Given the description of an element on the screen output the (x, y) to click on. 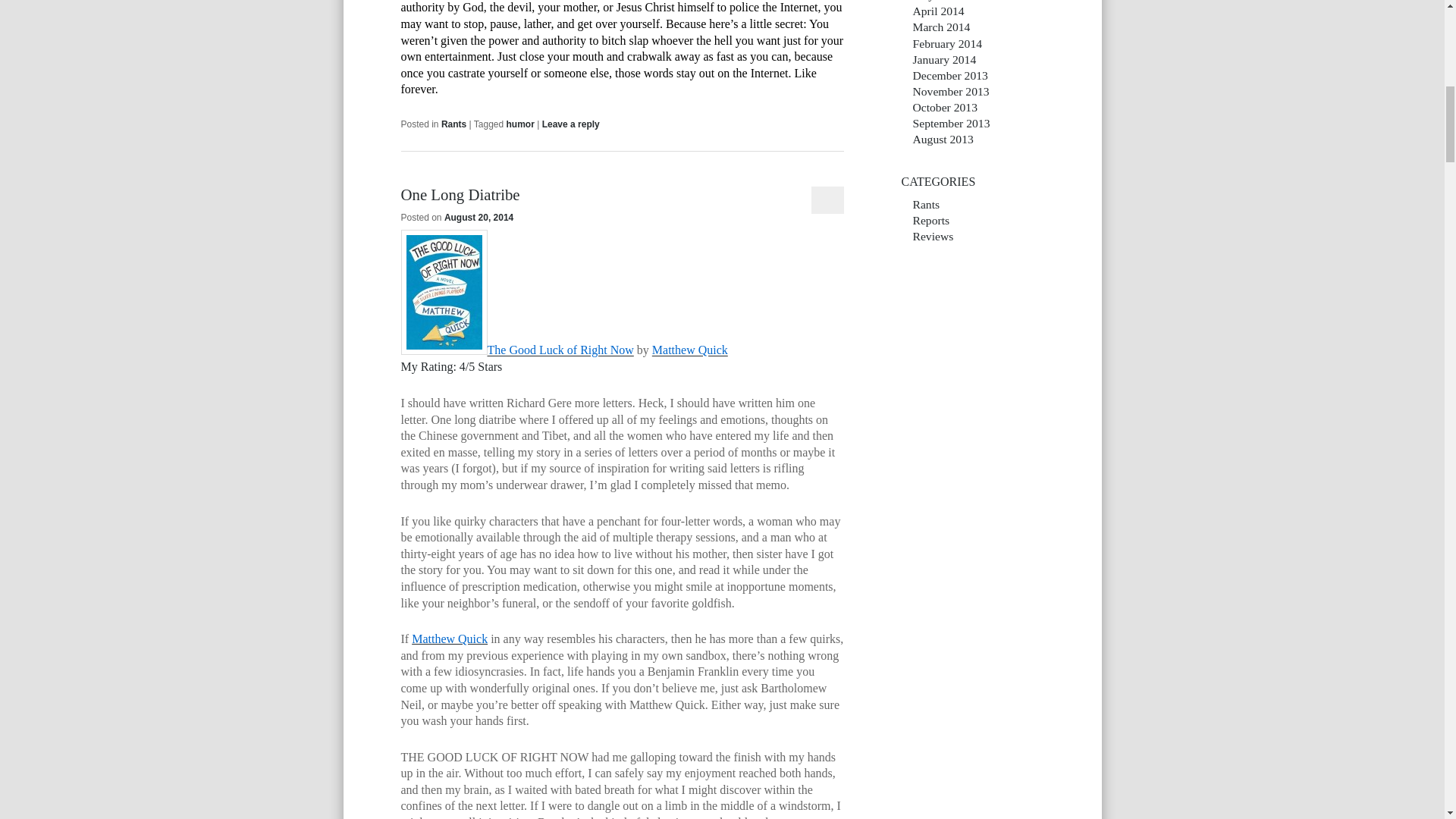
7:35 pm (478, 217)
Matthew Quick (690, 350)
August 20, 2014 (478, 217)
Leave a reply (570, 123)
The Good Luck of Right Now (559, 350)
humor (520, 123)
Matthew Quick (449, 638)
Rants (453, 123)
Matthew Quick (449, 638)
One Long Diatribe (459, 194)
